Given the description of an element on the screen output the (x, y) to click on. 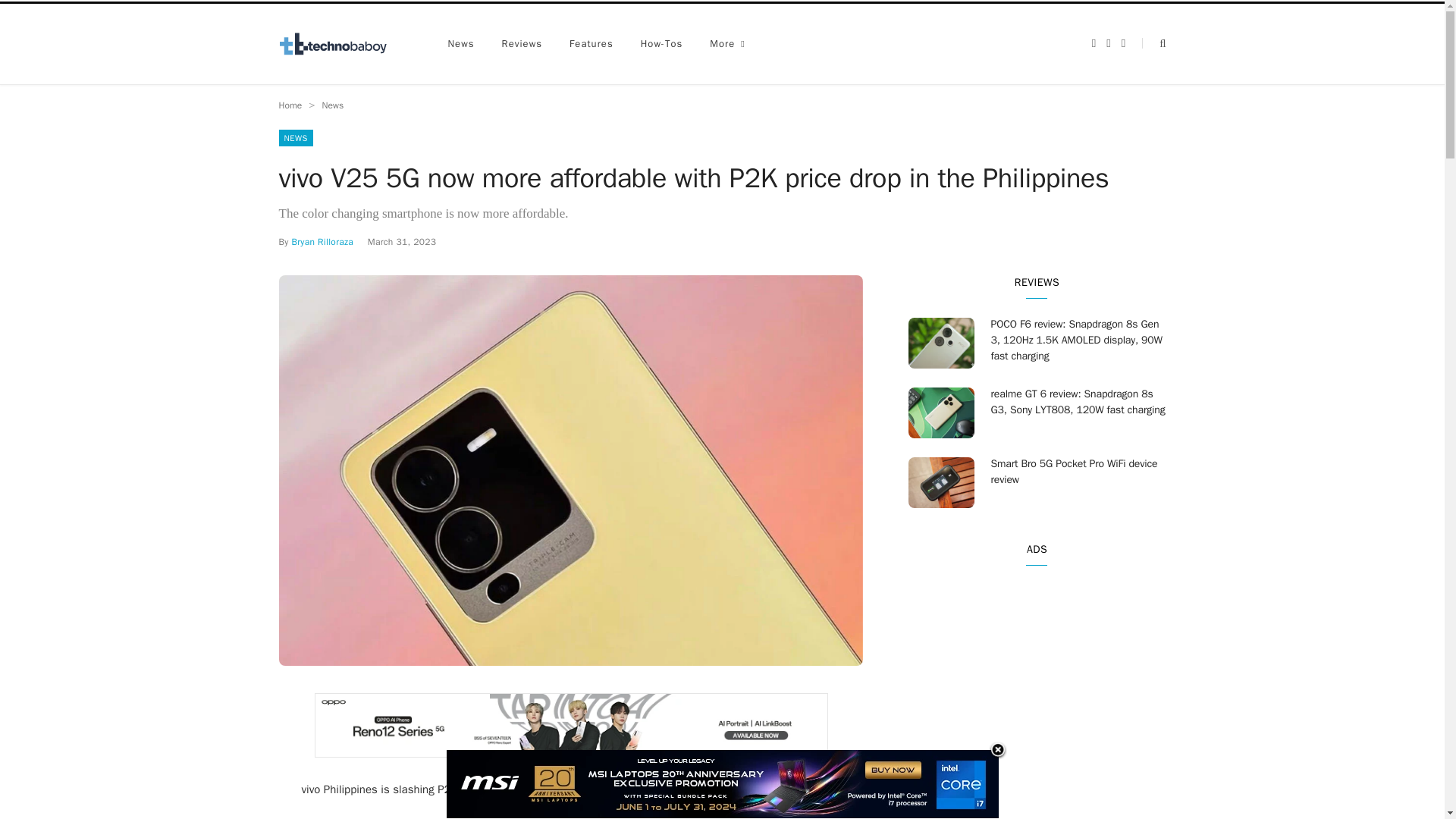
News (332, 105)
Home (290, 105)
Search (1153, 43)
NEWS (296, 137)
Technobaboy (339, 43)
Bryan Rilloraza (322, 241)
Posts by Bryan Rilloraza (322, 241)
March 31, 2023 (402, 241)
